Given the description of an element on the screen output the (x, y) to click on. 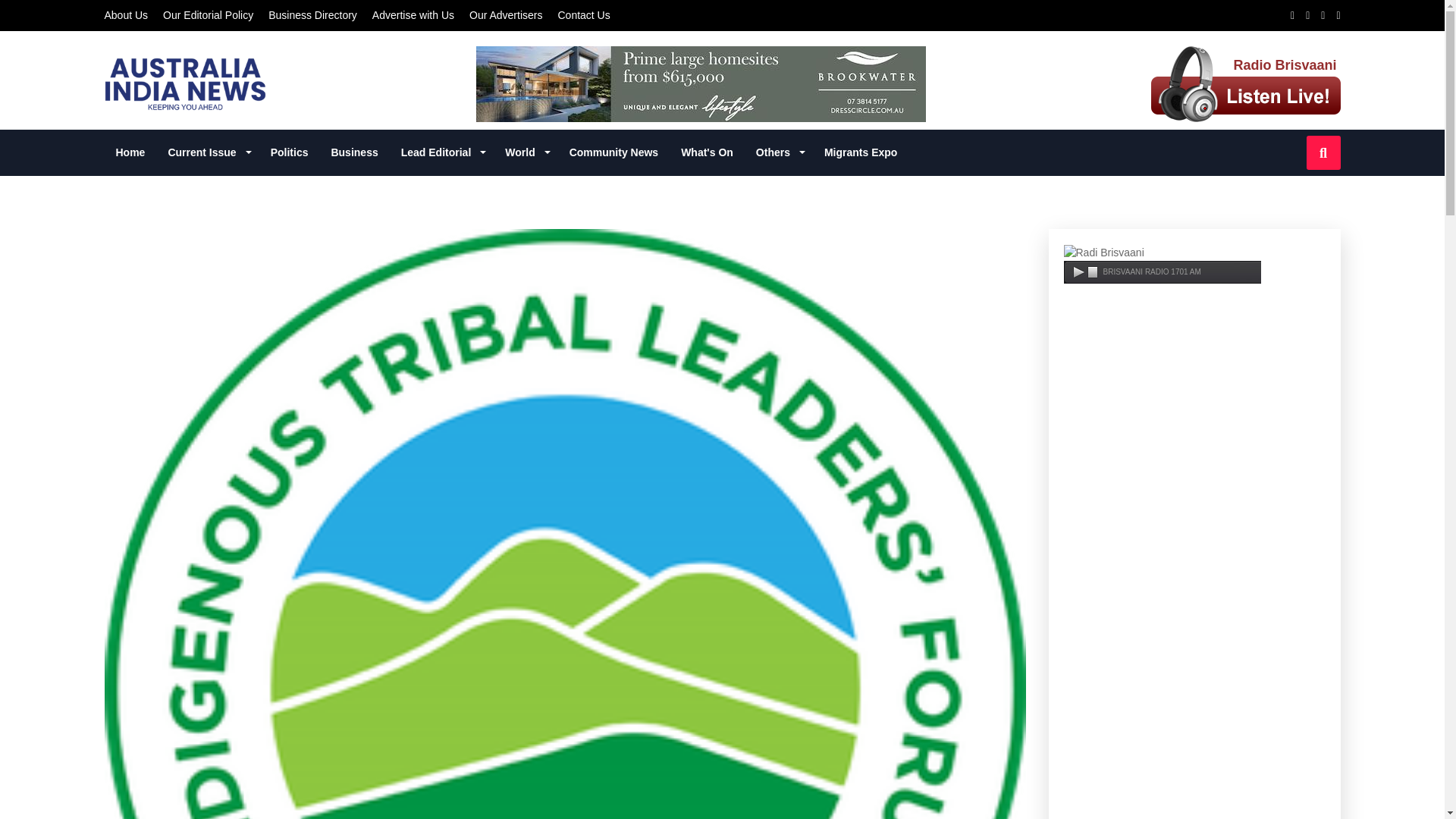
BGC-Residential-1 (701, 83)
Our Advertisers (504, 15)
YouTube video player (1193, 497)
Lead Editorial (442, 152)
Business (353, 152)
YouTube video player (1193, 757)
Advertise with Us (413, 15)
About Us (126, 15)
Current Issue (207, 152)
Home (130, 152)
